Given the description of an element on the screen output the (x, y) to click on. 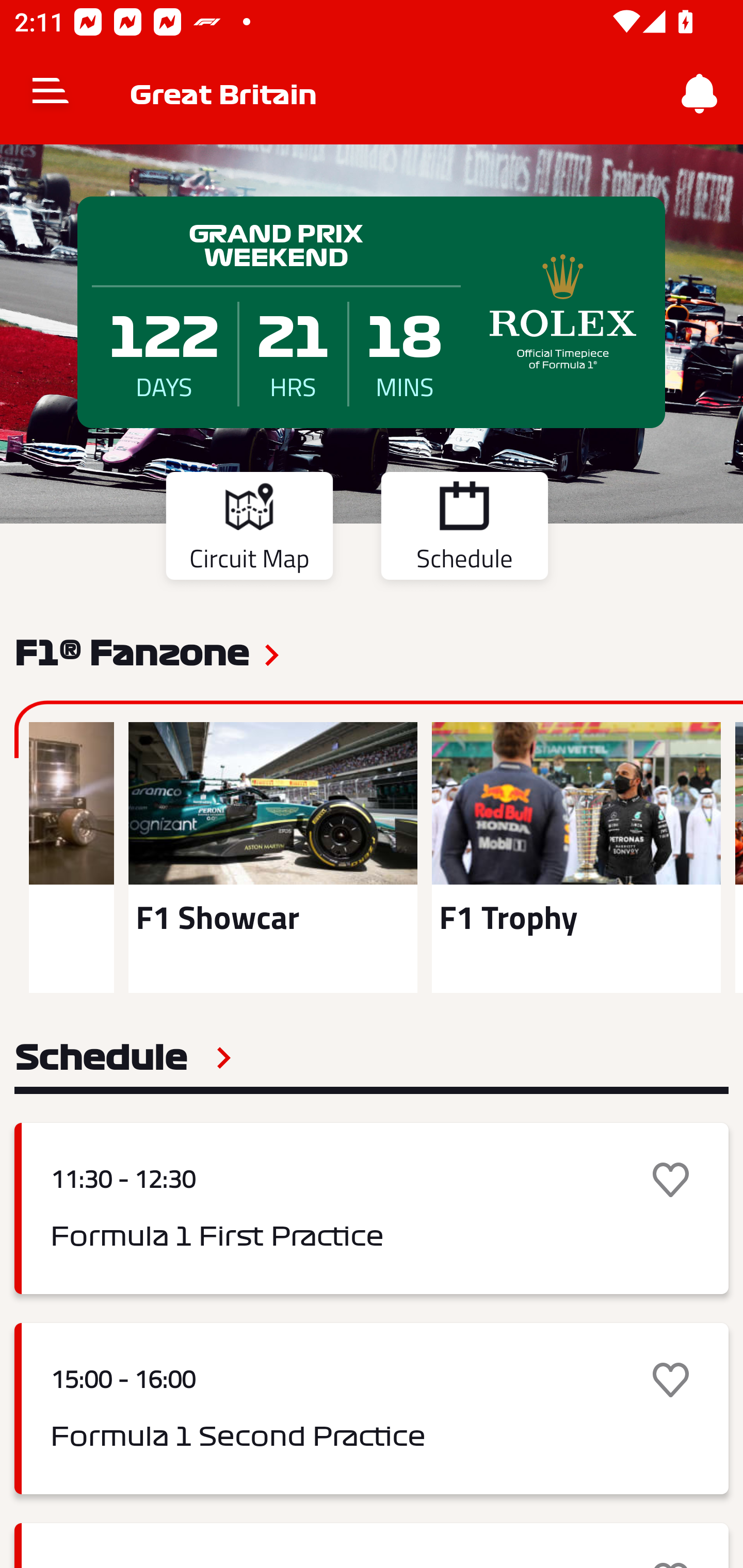
Navigate up (50, 93)
Notifications (699, 93)
Circuit Map (249, 528)
Schedule (464, 528)
F1® Fanzone (131, 651)
F1 Showcar (272, 857)
F1 Trophy (575, 857)
Schedule (122, 1057)
11:30 - 12:30 Formula 1 First Practice (371, 1207)
15:00 - 16:00 Formula 1 Second Practice (371, 1408)
